Given the description of an element on the screen output the (x, y) to click on. 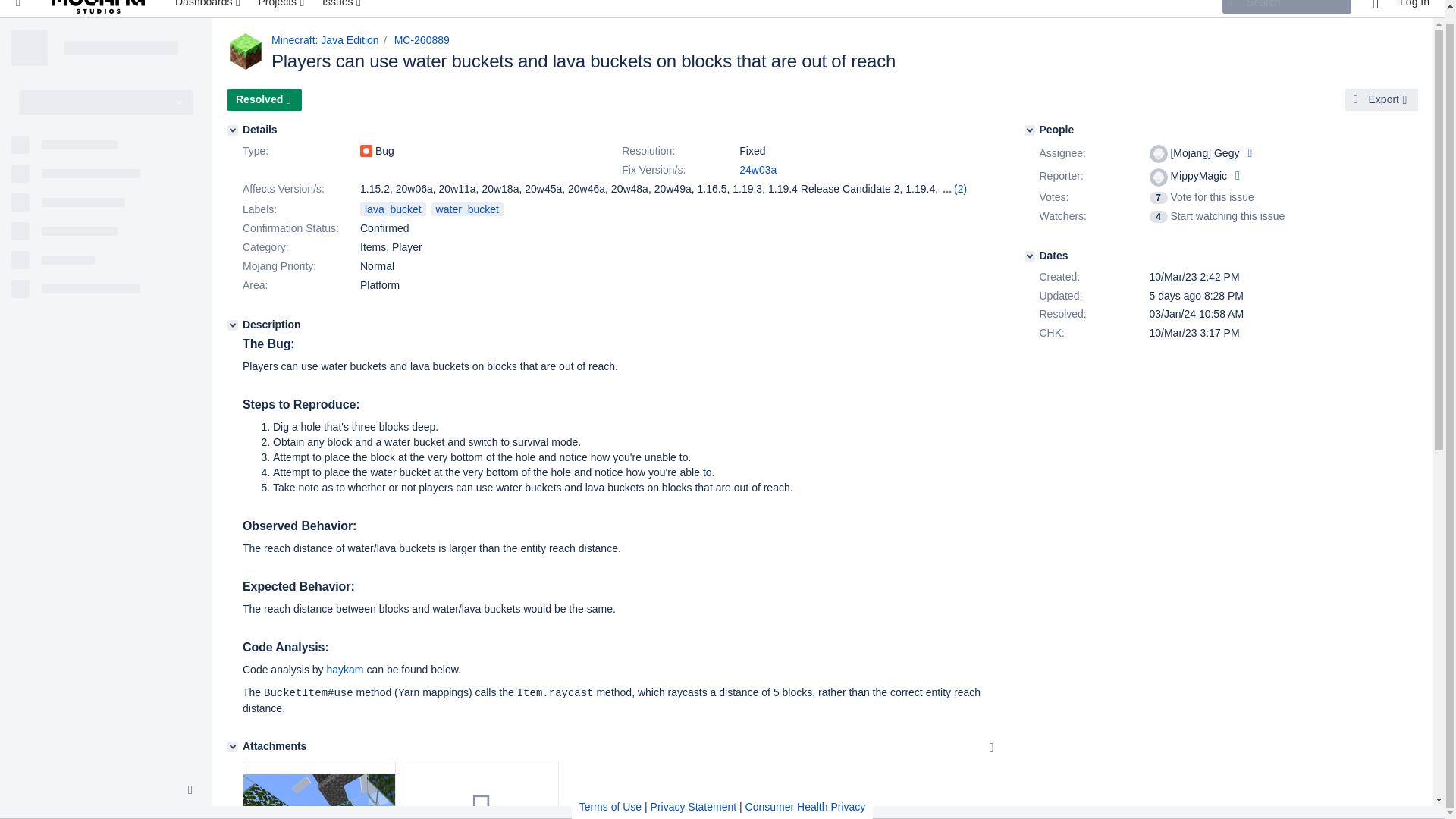
Details (232, 130)
Description (232, 325)
Export (1381, 99)
Dashboards (208, 8)
Type (299, 151)
Help (1374, 8)
haykam (345, 669)
Export this issue in another format (1381, 99)
Terms of Use (610, 793)
Log In (1414, 8)
